Given the description of an element on the screen output the (x, y) to click on. 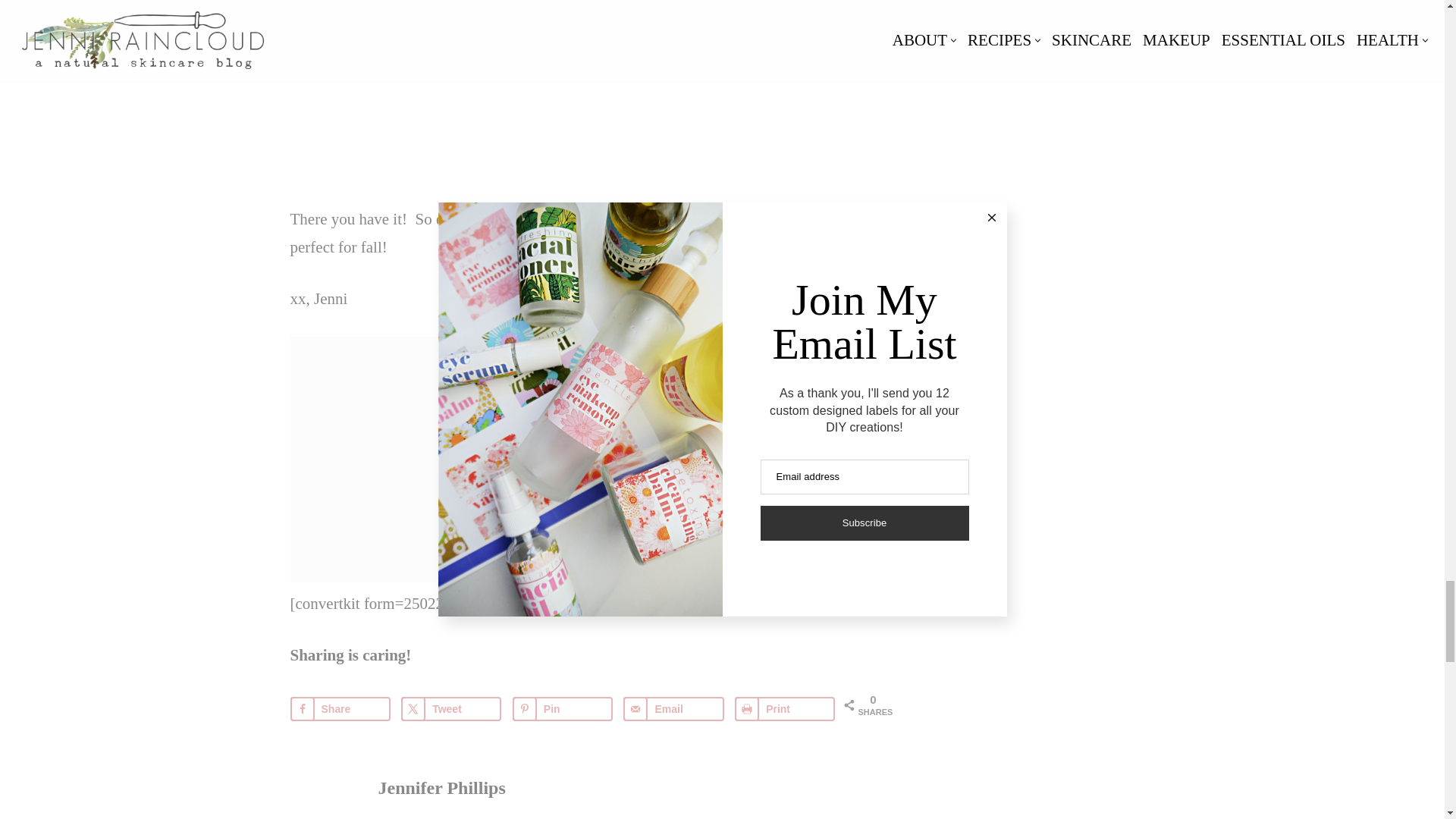
Send over email (673, 708)
Share on Facebook (339, 708)
Share on X (450, 708)
Save to Pinterest (562, 708)
Print this webpage (784, 708)
